Given the description of an element on the screen output the (x, y) to click on. 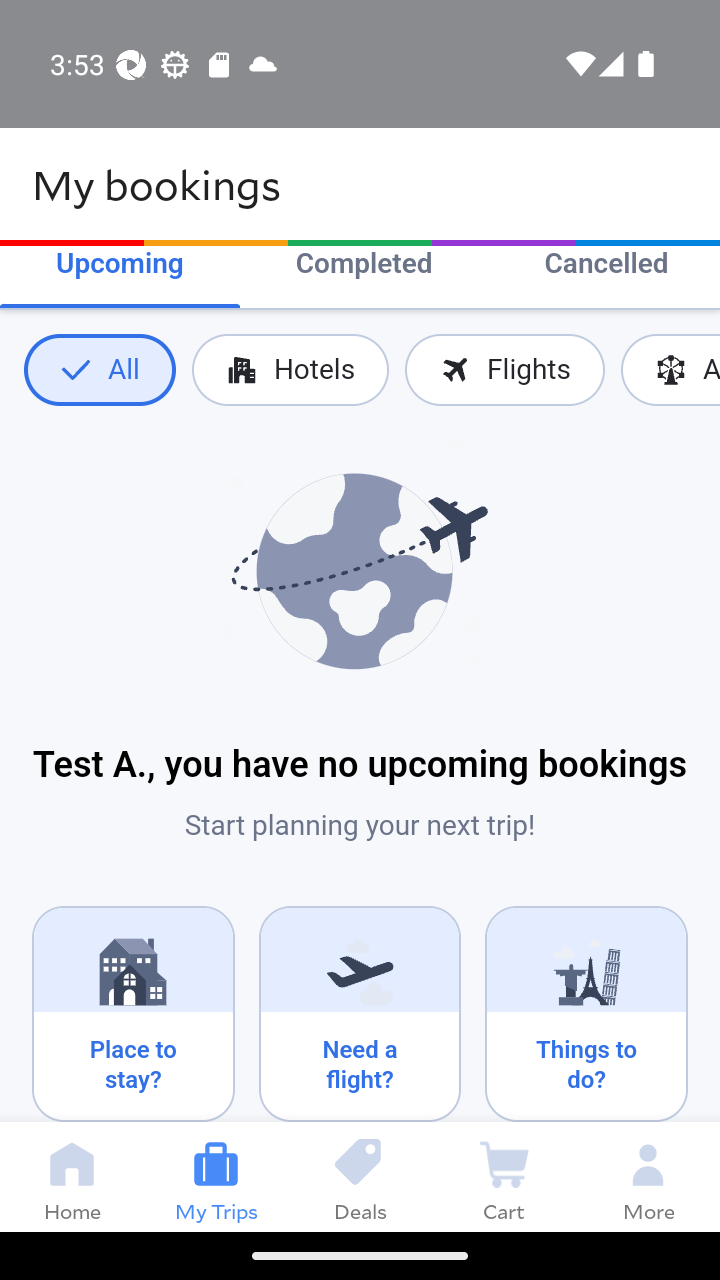
Upcoming (119, 266)
Completed (363, 266)
Cancelled (606, 266)
All (99, 369)
Hotels (290, 369)
Flights (504, 369)
Activities (669, 369)
Home (72, 1176)
My Trips (216, 1176)
Deals (360, 1176)
Cart (504, 1176)
More (648, 1176)
